Given the description of an element on the screen output the (x, y) to click on. 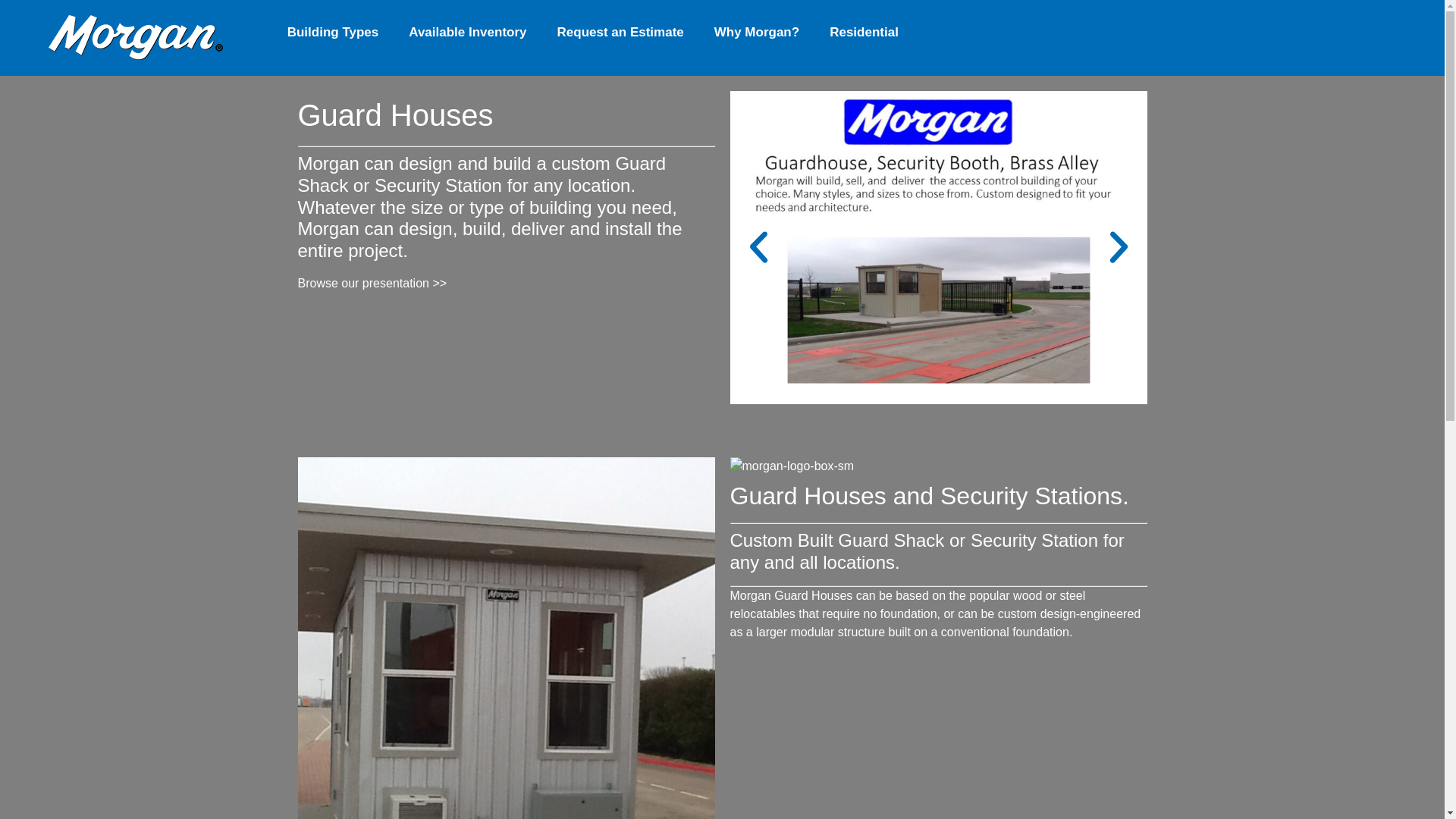
Building Types (333, 32)
Why Morgan? (755, 32)
Residential (863, 32)
Request an Estimate (619, 32)
Available Inventory (467, 32)
